Given the description of an element on the screen output the (x, y) to click on. 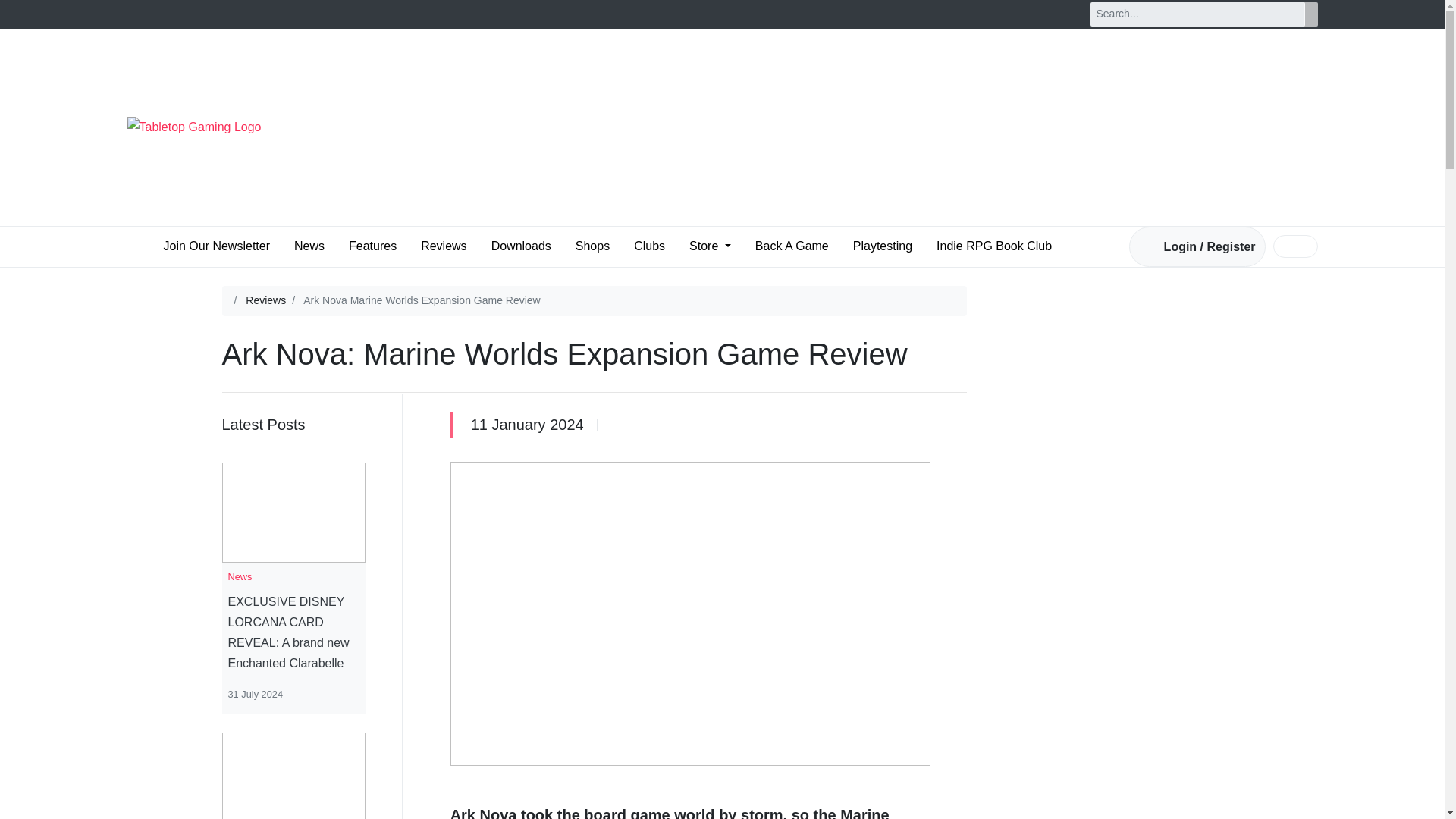
Store (709, 246)
Back A Game (791, 246)
Reviews (265, 300)
Shops (592, 246)
Clubs (649, 246)
Downloads (520, 246)
Indie RPG Book Club (994, 246)
News (309, 246)
Join Our Newsletter (216, 246)
